Given the description of an element on the screen output the (x, y) to click on. 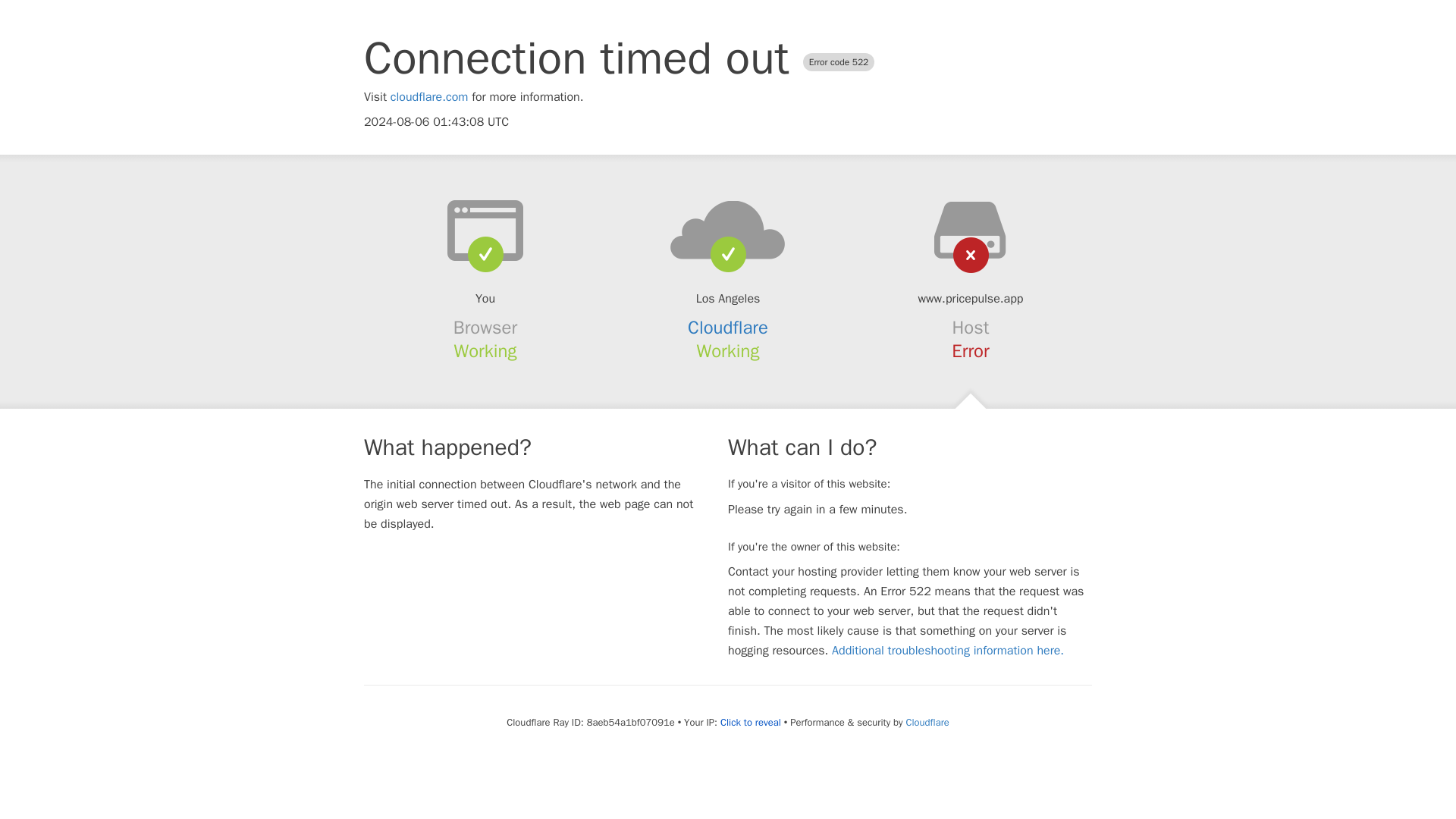
Additional troubleshooting information here. (947, 650)
cloudflare.com (429, 96)
Cloudflare (727, 327)
Cloudflare (927, 721)
Click to reveal (750, 722)
